Given the description of an element on the screen output the (x, y) to click on. 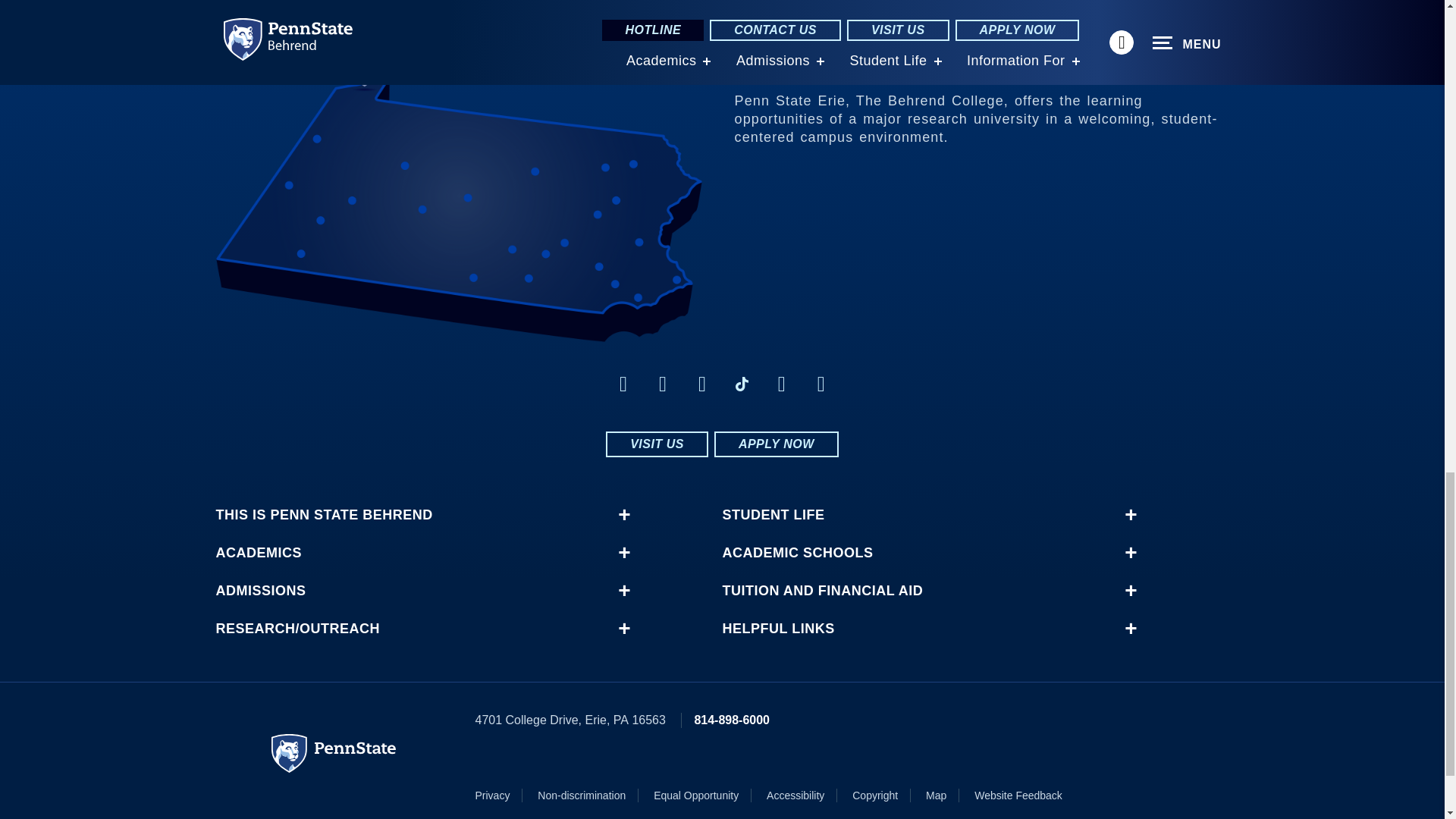
Penn State University (333, 753)
Instagram (662, 383)
Facebook (622, 383)
TikTok (741, 383)
LinkedIn (702, 383)
YouTube (820, 383)
